Given the description of an element on the screen output the (x, y) to click on. 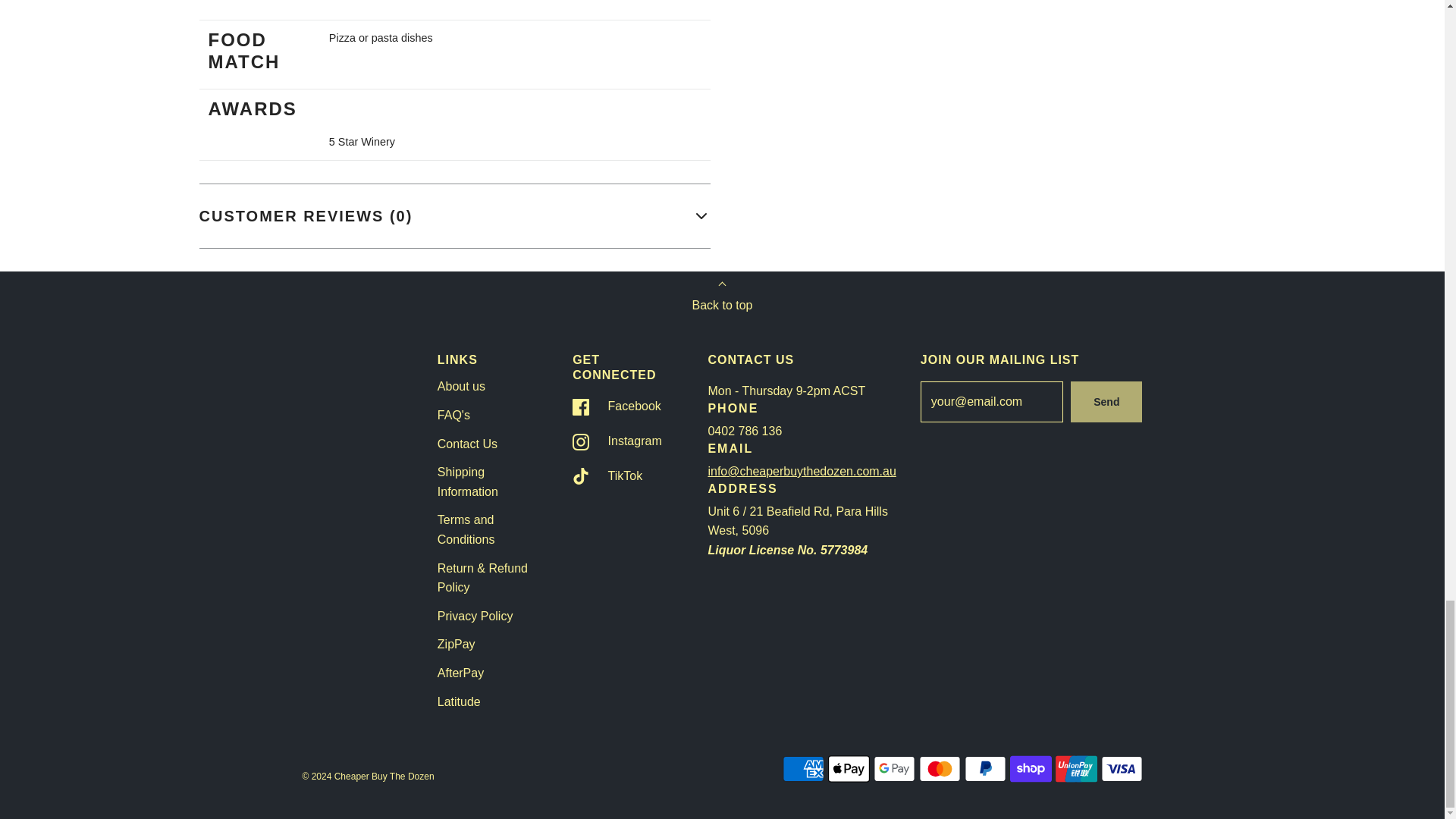
Mastercard (939, 768)
Instagram icon (580, 442)
American Express (803, 768)
Google Pay (894, 768)
Facebook icon (580, 406)
Union Pay (1076, 768)
PayPal (984, 768)
Visa (1121, 768)
TikTok icon (580, 475)
Shop Pay (1030, 768)
